Given the description of an element on the screen output the (x, y) to click on. 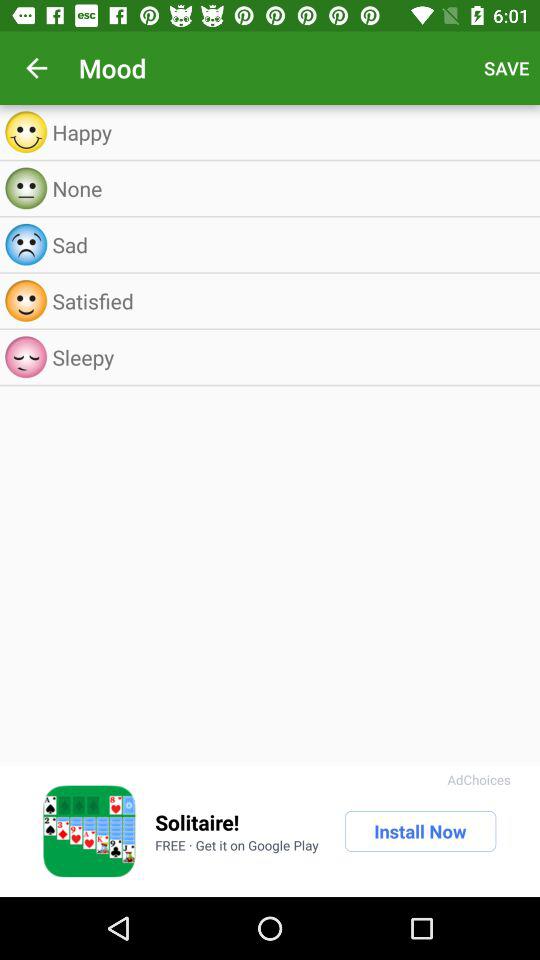
turn on happy item (290, 132)
